Given the description of an element on the screen output the (x, y) to click on. 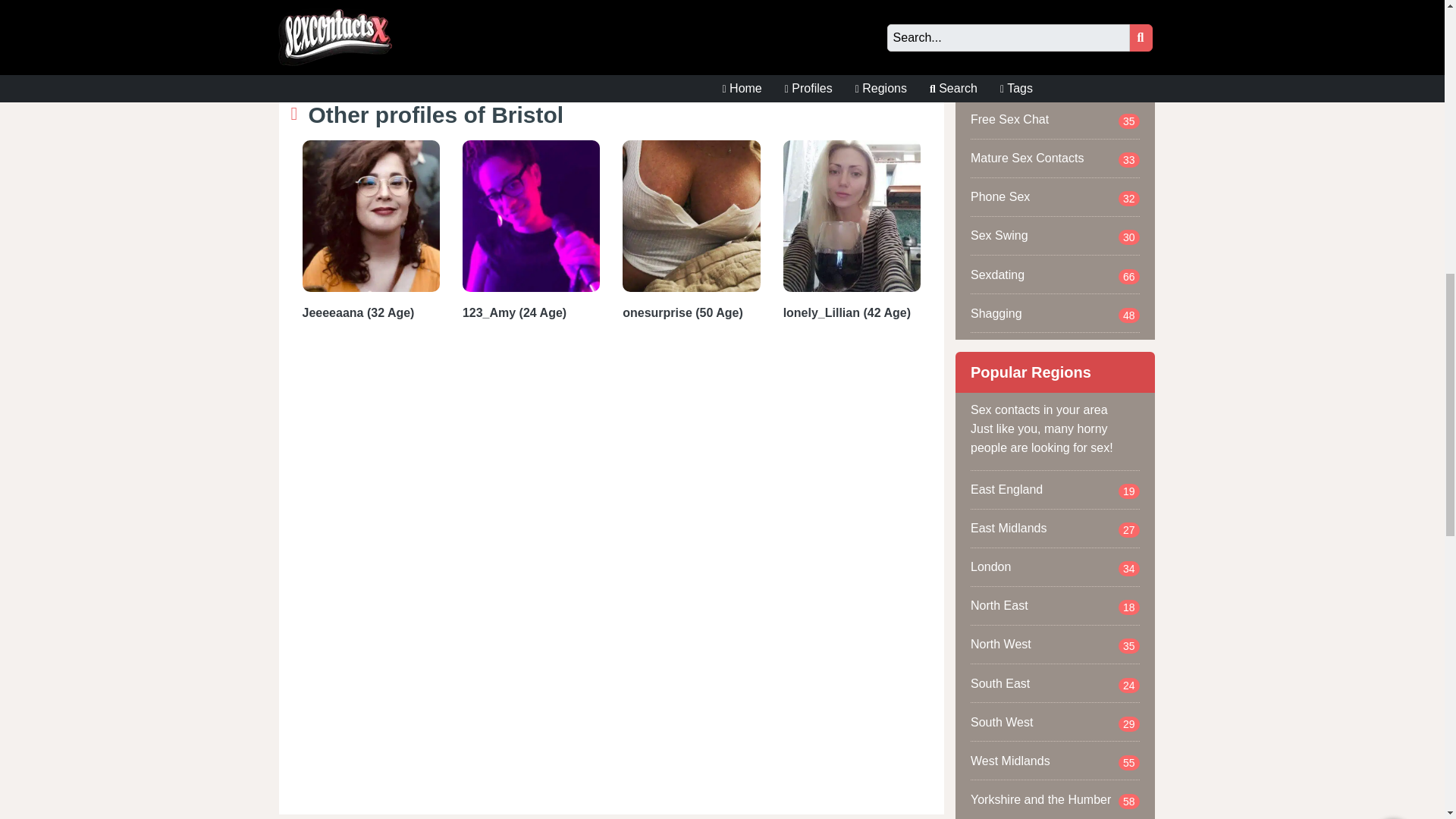
Bekijk alles in Free Sex Chat (1055, 119)
Bekijk alles in East England (1055, 489)
Bekijk alles in Shagging (1055, 312)
Bekijk alles in North West (1055, 644)
Bekijk alles in South East (1055, 682)
Bekijk alles in Mature Sex Contacts (1055, 158)
Bekijk alles in East Midlands (1055, 527)
Contact busybreeze right now (845, 17)
Bekijk alles in London (1055, 567)
Bekijk alles in Anal Sex (1055, 41)
